Given the description of an element on the screen output the (x, y) to click on. 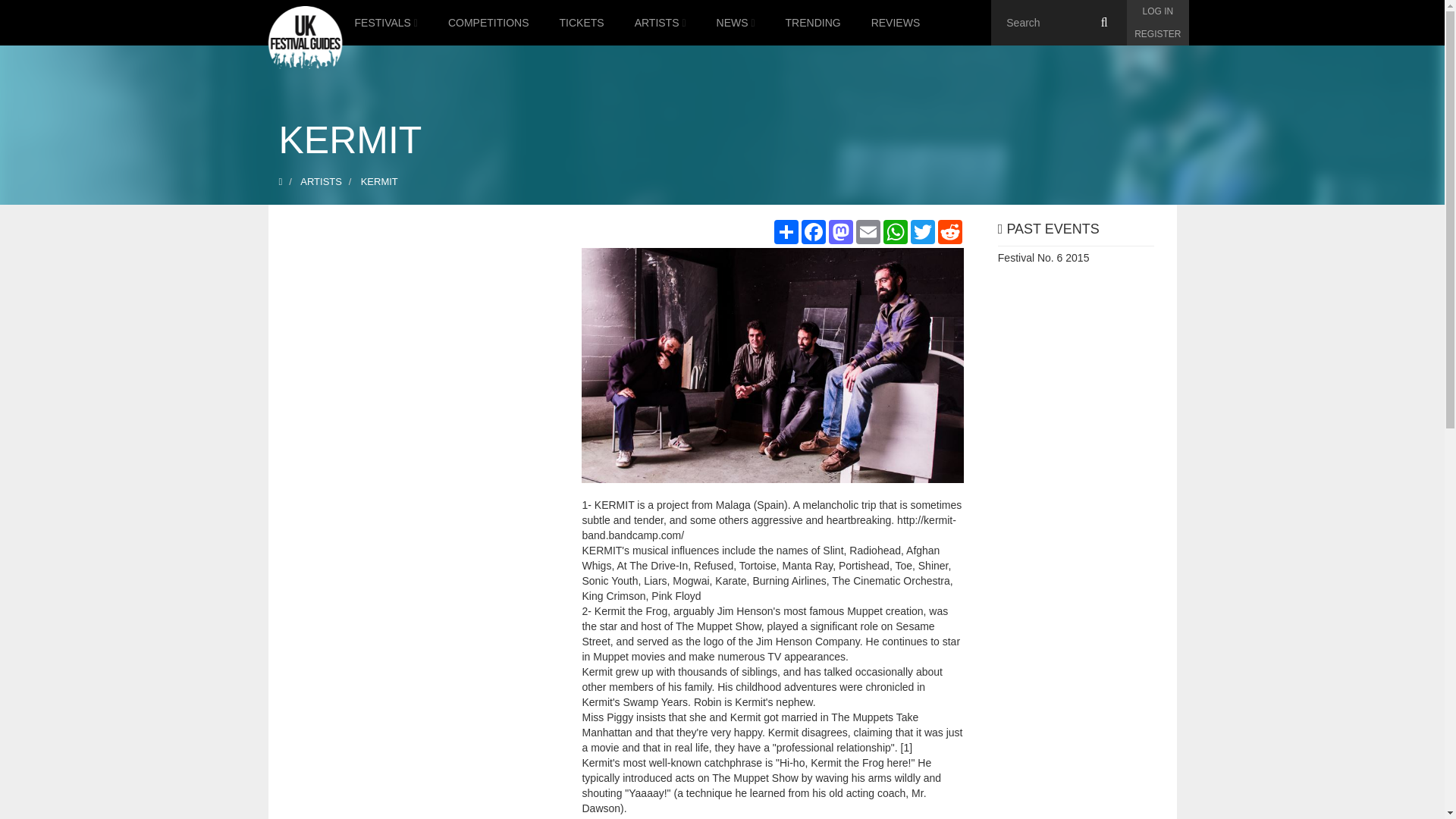
COMPETITIONS (488, 22)
UK Festival Guides (304, 38)
Email (868, 232)
Competitions (488, 22)
Mastodon (840, 232)
TRENDING (813, 22)
Reddit (949, 232)
Reviews (896, 22)
FESTIVALS (385, 22)
LOG IN (1157, 11)
